Given the description of an element on the screen output the (x, y) to click on. 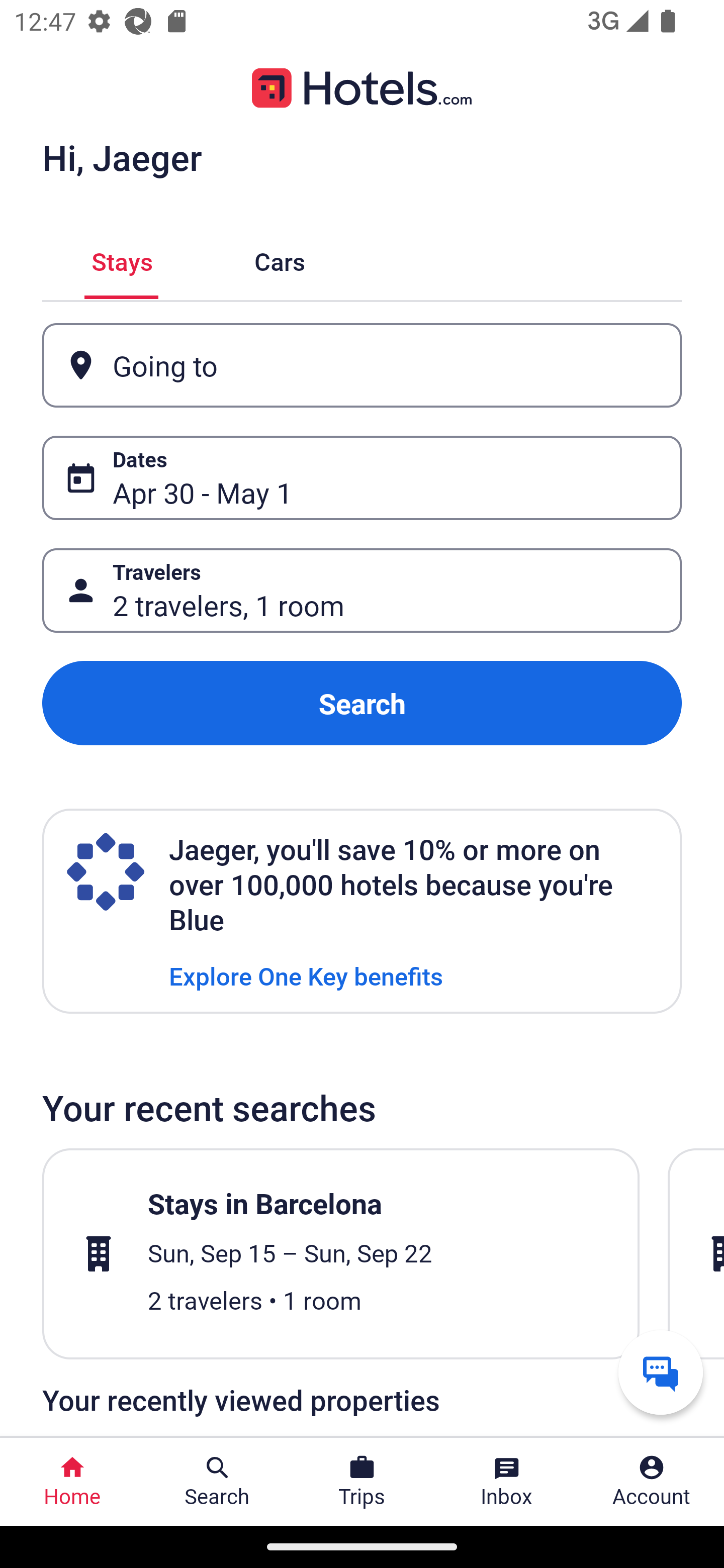
Hi, Jaeger (121, 156)
Cars (279, 259)
Going to Button (361, 365)
Dates Button Apr 30 - May 1 (361, 477)
Travelers Button 2 travelers, 1 room (361, 590)
Search (361, 702)
Get help from a virtual agent (660, 1371)
Search Search Button (216, 1481)
Trips Trips Button (361, 1481)
Inbox Inbox Button (506, 1481)
Account Profile. Button (651, 1481)
